Given the description of an element on the screen output the (x, y) to click on. 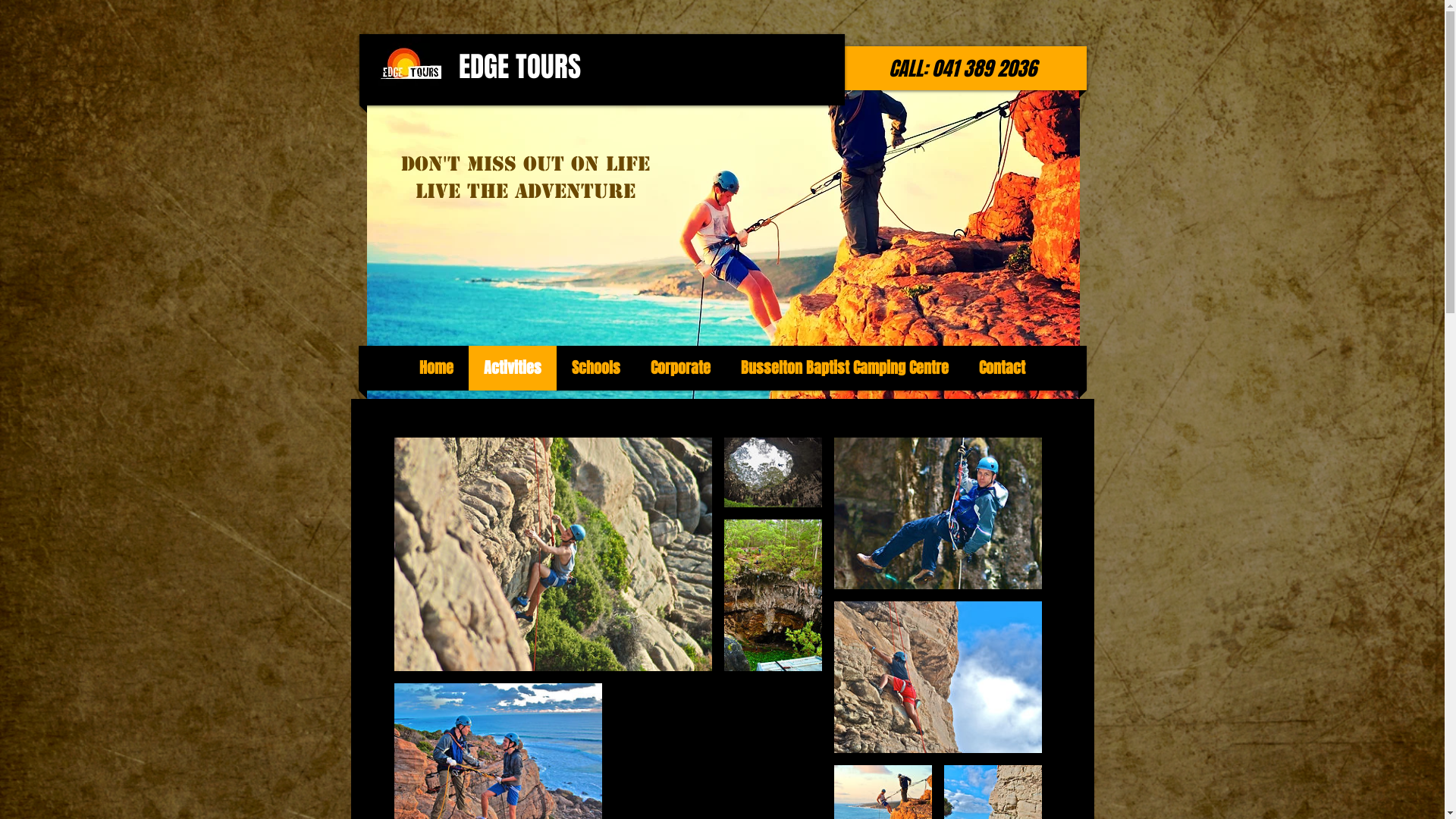
Home Element type: text (435, 367)
Activities Element type: text (512, 367)
Schools Element type: text (595, 367)
Busselton Baptist Camping Centre Element type: text (844, 367)
Contact Element type: text (1001, 367)
Corporate Element type: text (680, 367)
Edgetours_black02.jpg Element type: hover (409, 67)
DSC_0581_2.JPG Element type: hover (723, 242)
EDGE TOURS Element type: text (519, 66)
